Given the description of an element on the screen output the (x, y) to click on. 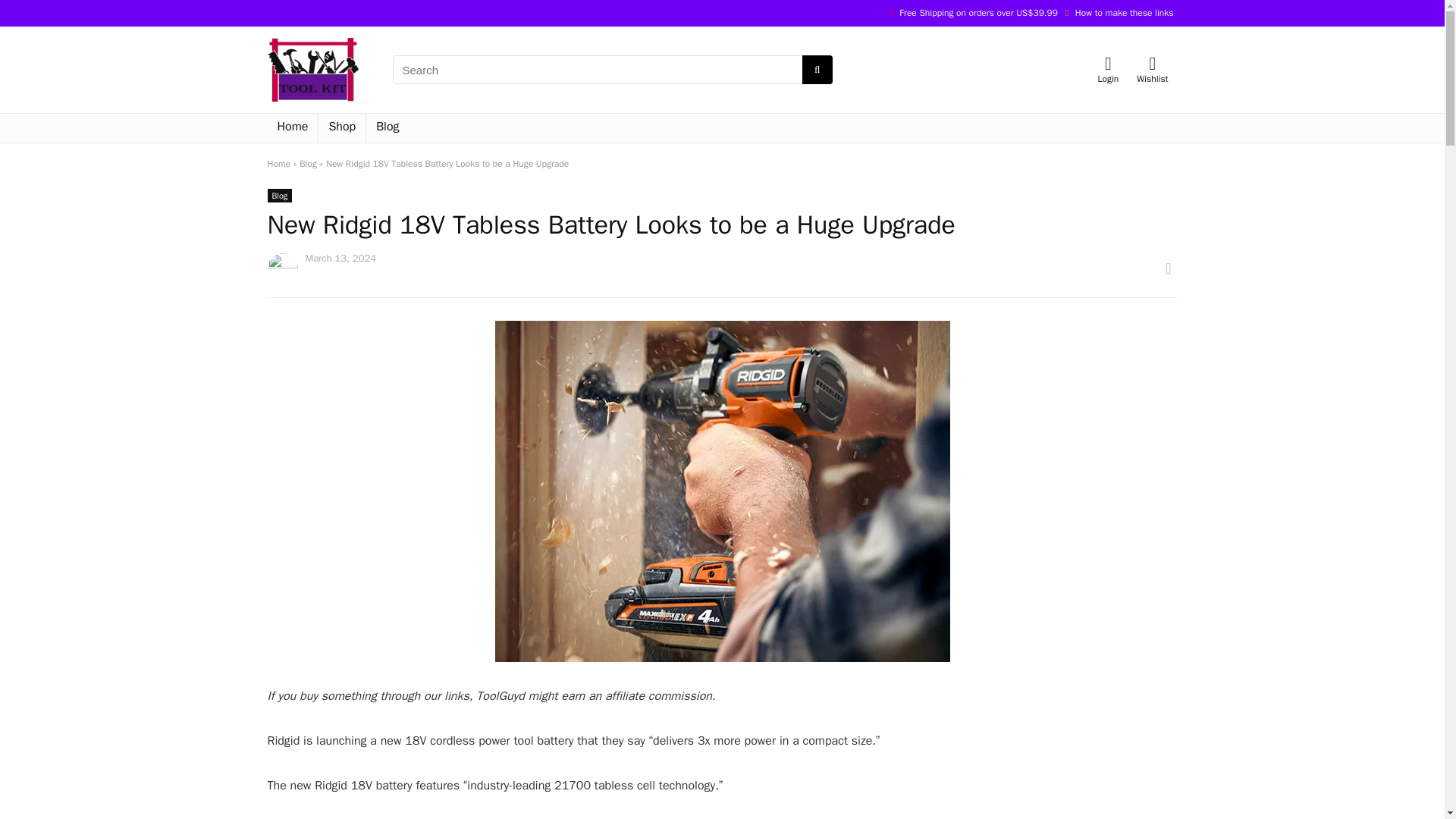
Blog (387, 127)
Home (277, 163)
Blog (308, 163)
View all posts in Blog (279, 195)
Shop (341, 127)
Blog (279, 195)
How to make these links (1124, 12)
Home (291, 127)
